Given the description of an element on the screen output the (x, y) to click on. 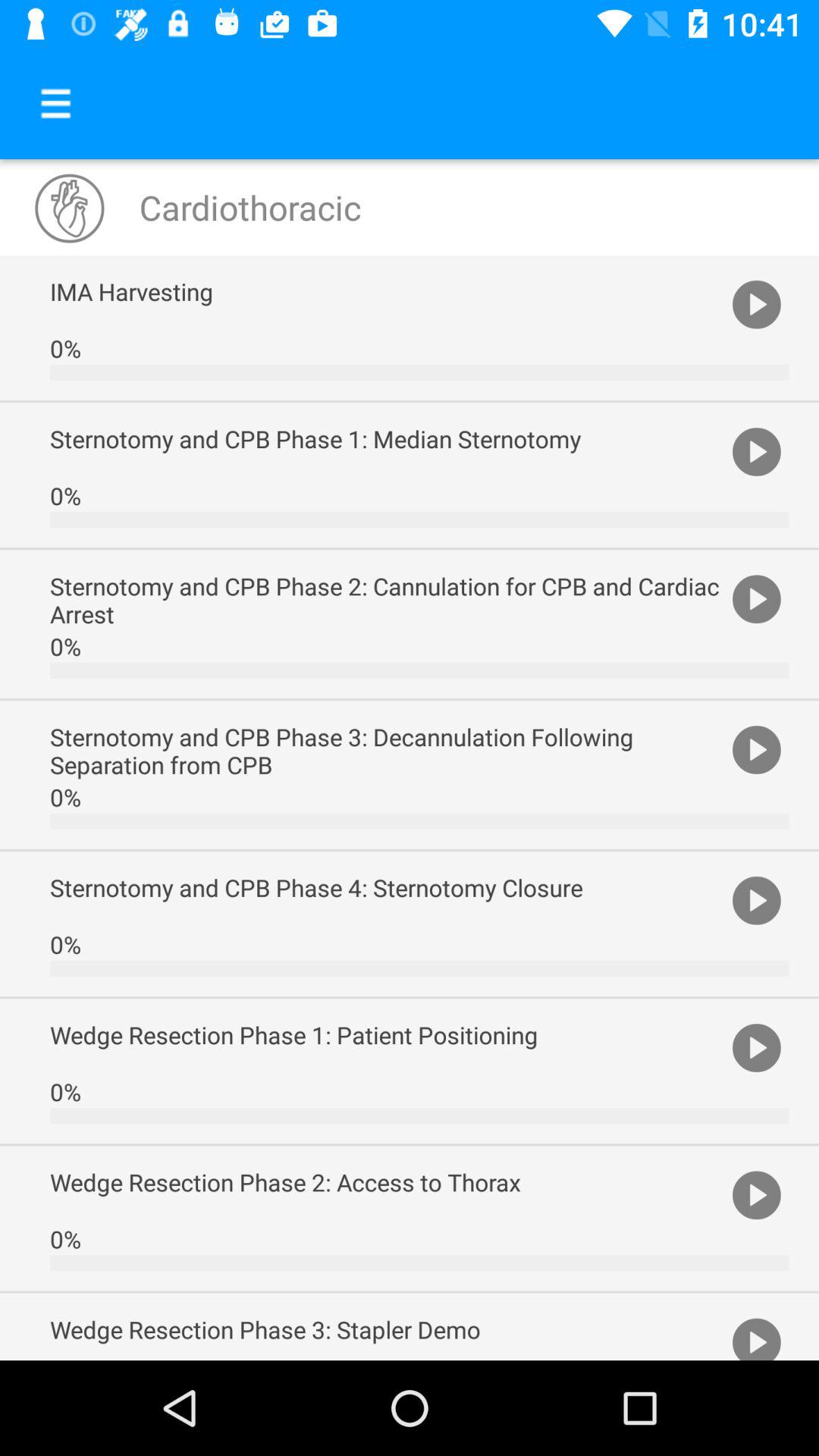
select the icon to the right of wedge resection phase (756, 1336)
